Given the description of an element on the screen output the (x, y) to click on. 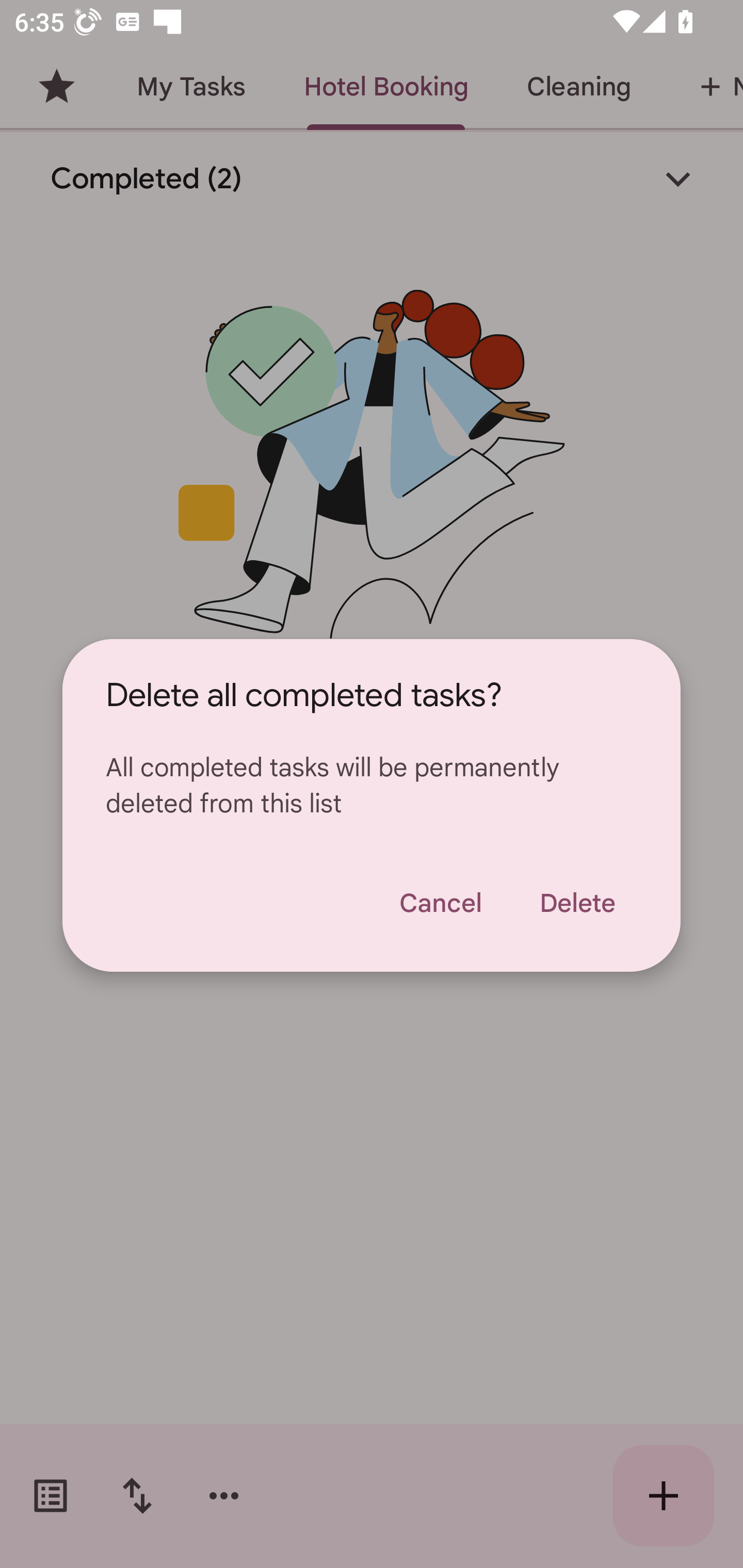
Cancel (440, 903)
Delete (577, 903)
